Given the description of an element on the screen output the (x, y) to click on. 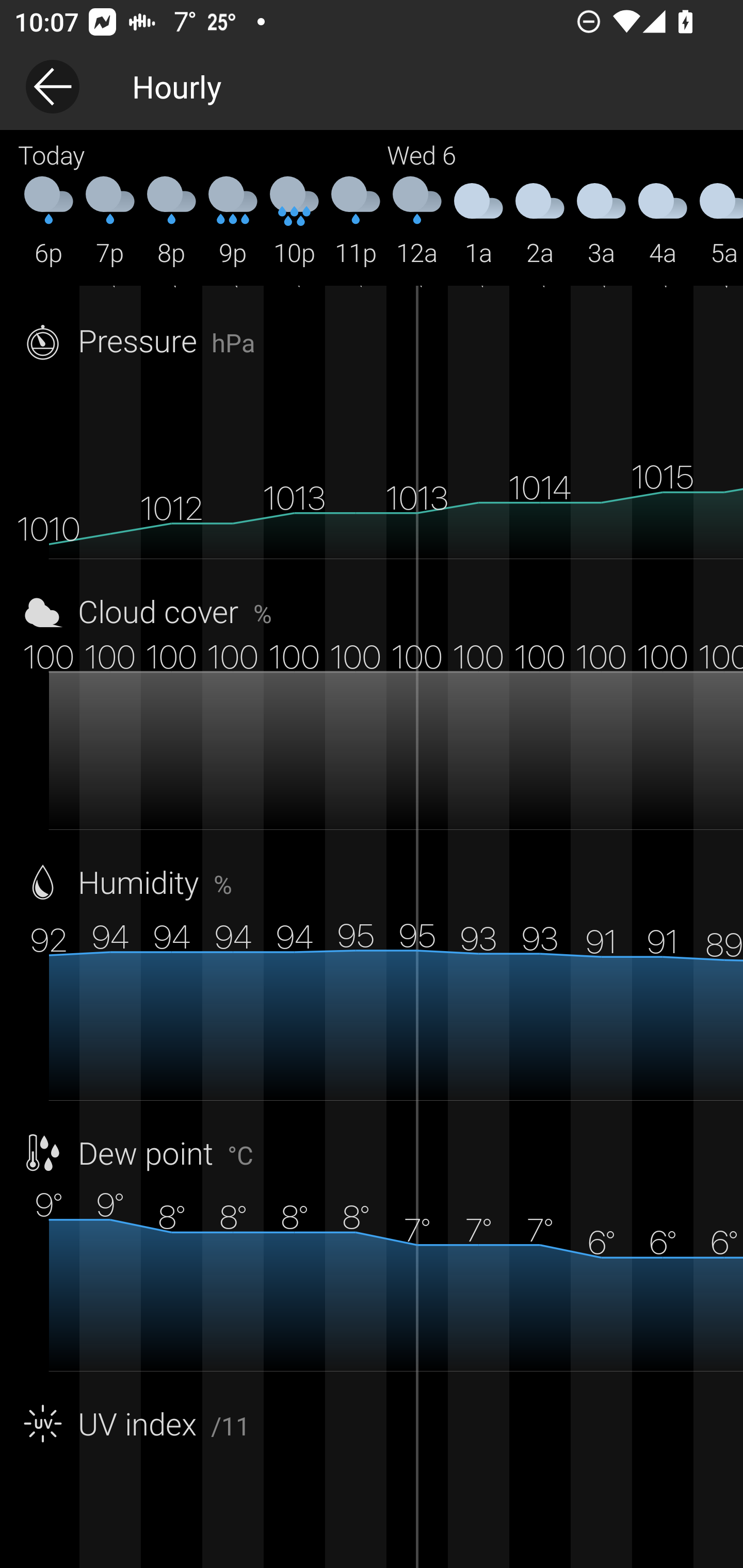
6p (48, 222)
7p (110, 222)
8p (171, 222)
9p (232, 222)
10p (294, 222)
11p (355, 222)
12a (417, 222)
1a (478, 222)
2a (539, 222)
3a (601, 222)
4a (662, 222)
5a (718, 222)
